Given the description of an element on the screen output the (x, y) to click on. 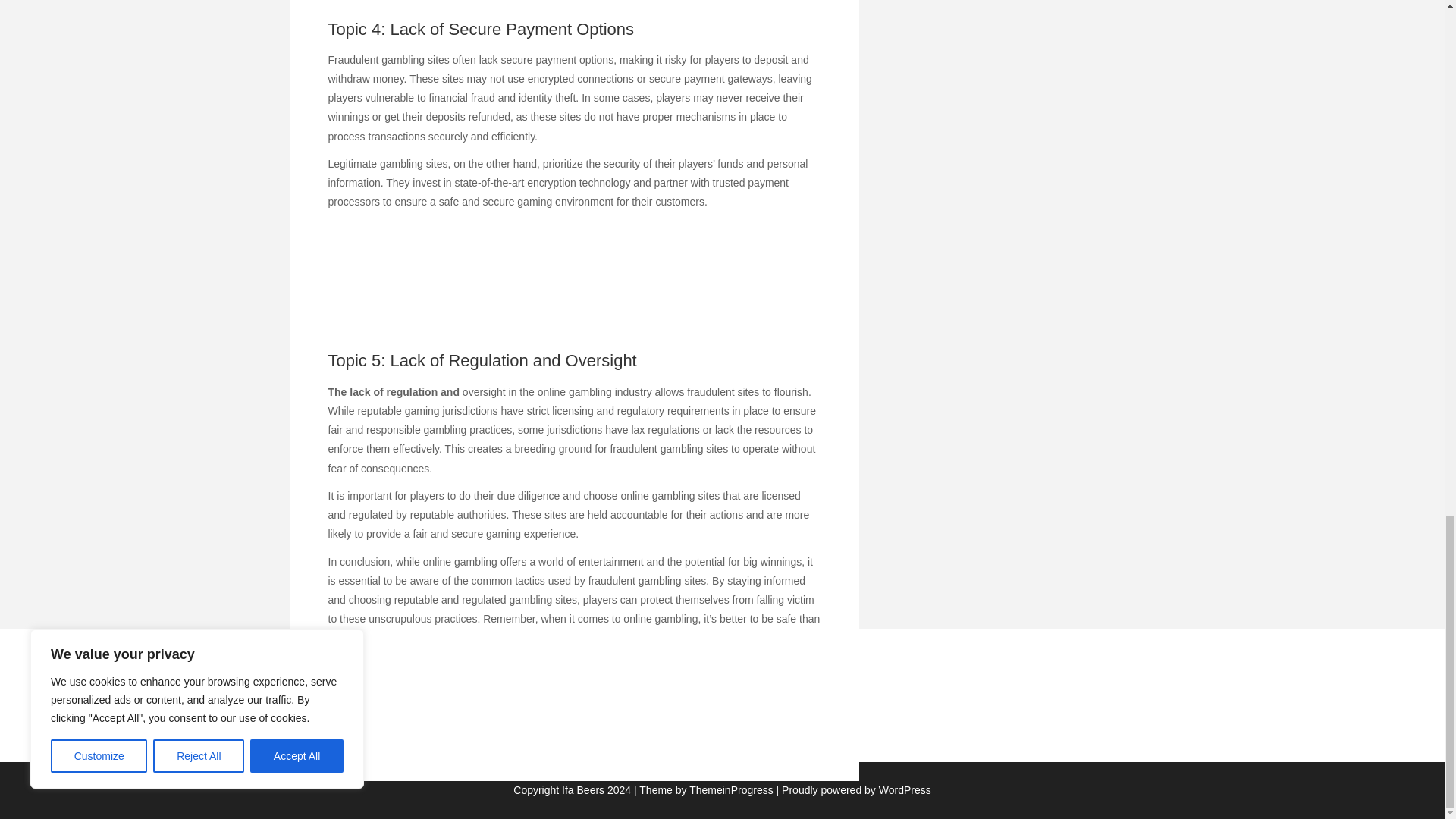
A Semantic Personal Publishing Platform (853, 789)
